Given the description of an element on the screen output the (x, y) to click on. 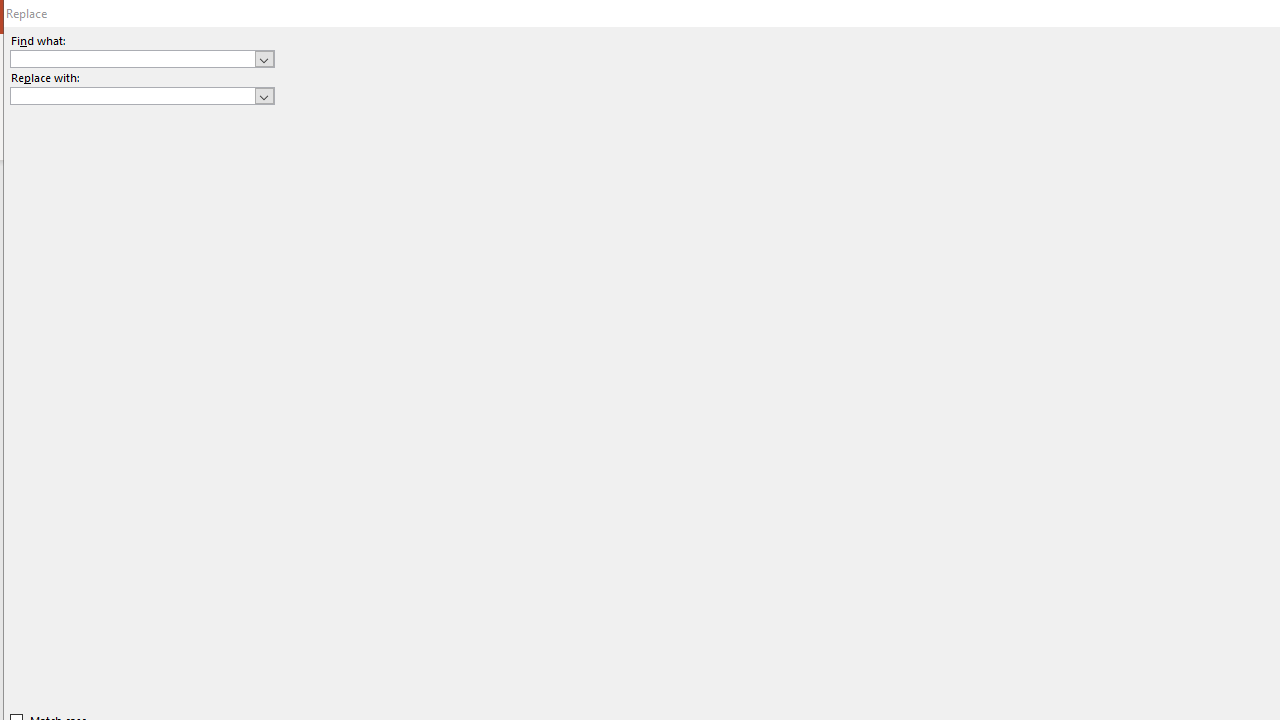
Find what (132, 58)
